Given the description of an element on the screen output the (x, y) to click on. 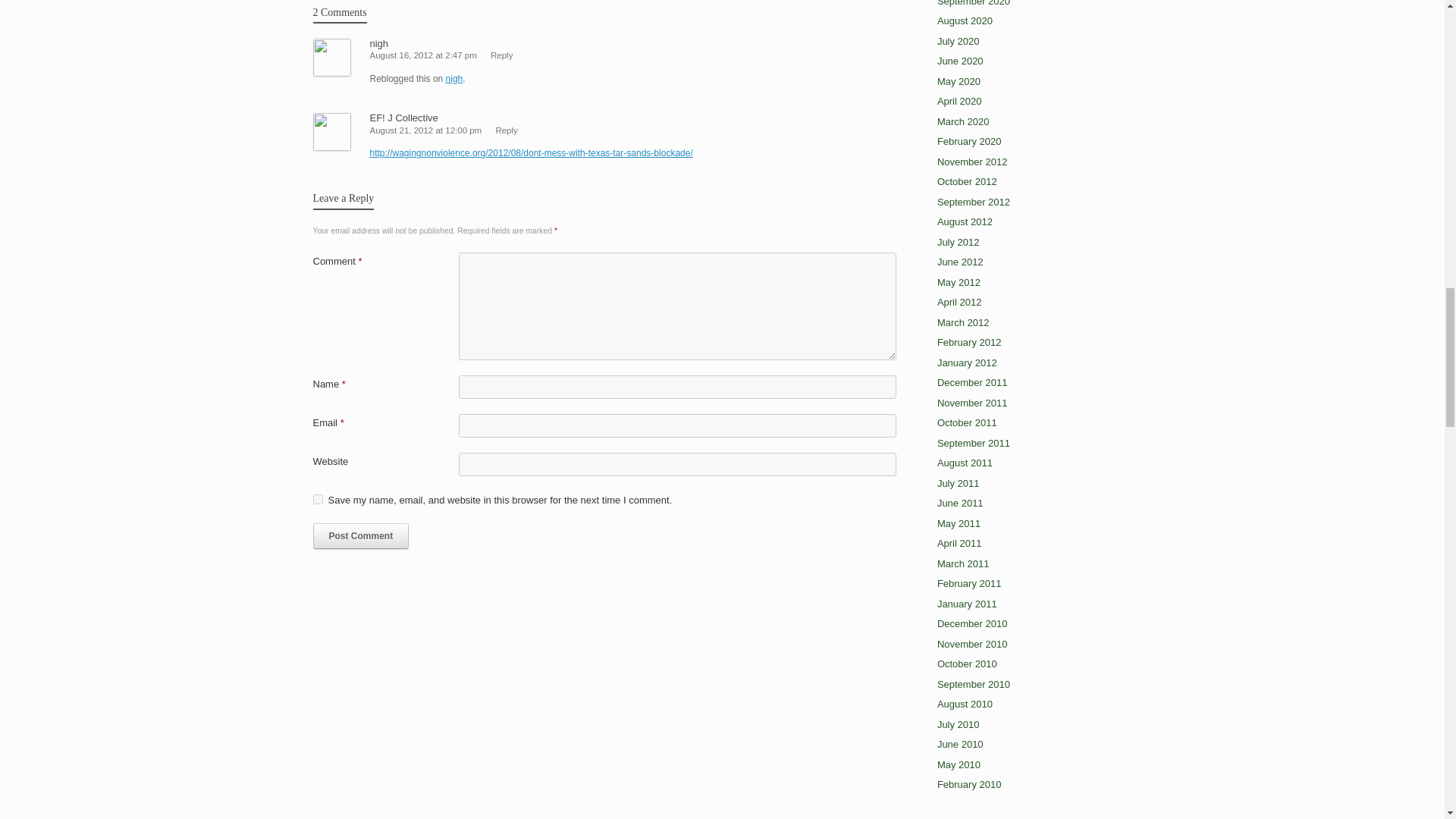
yes (317, 499)
Post Comment (361, 535)
nigh (378, 43)
